Given the description of an element on the screen output the (x, y) to click on. 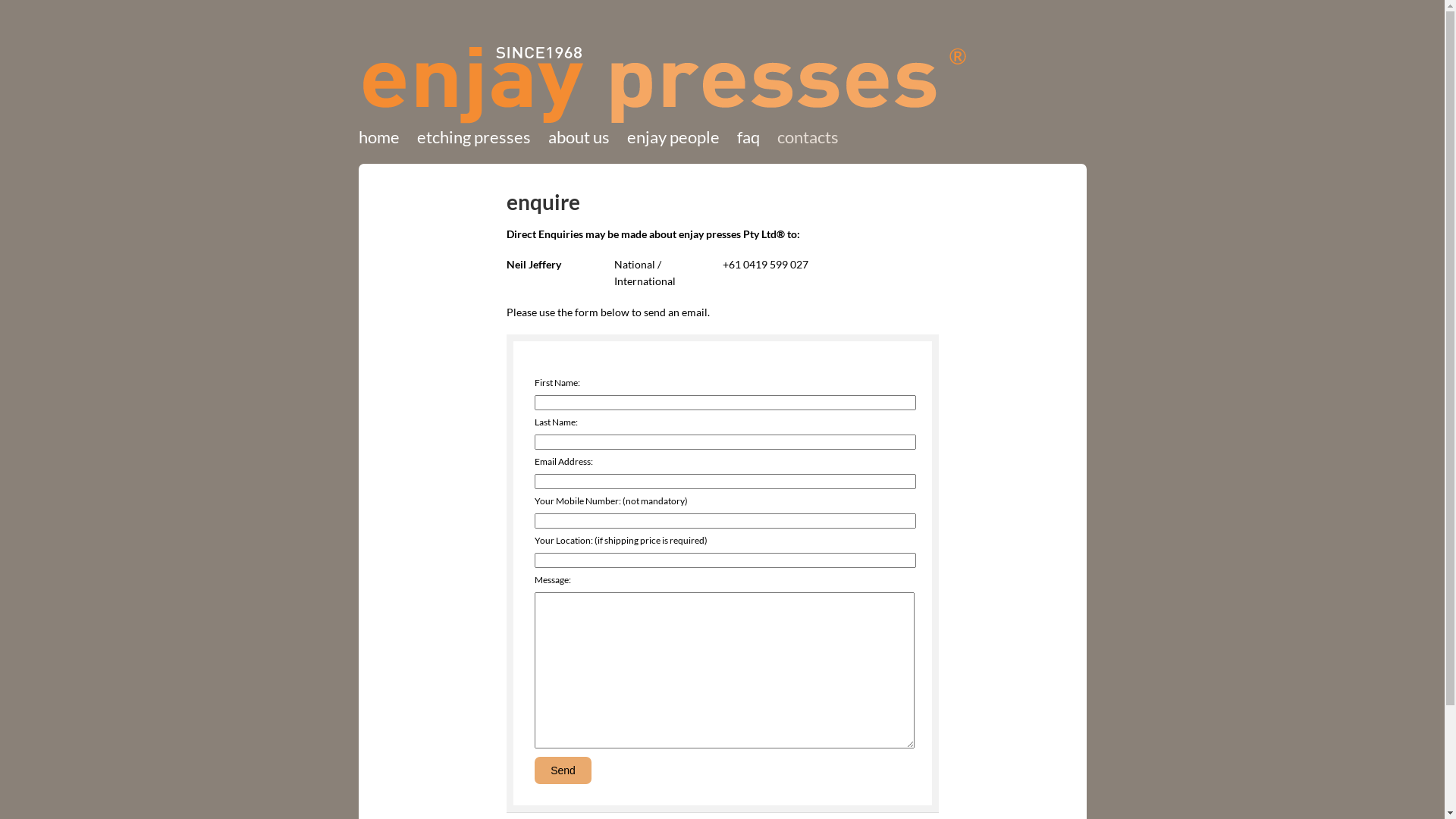
home Element type: text (381, 137)
about us Element type: text (577, 137)
enjay people Element type: text (672, 137)
etching presses Element type: text (473, 137)
contacts Element type: text (802, 137)
faq Element type: text (748, 137)
Send Element type: text (562, 770)
